Given the description of an element on the screen output the (x, y) to click on. 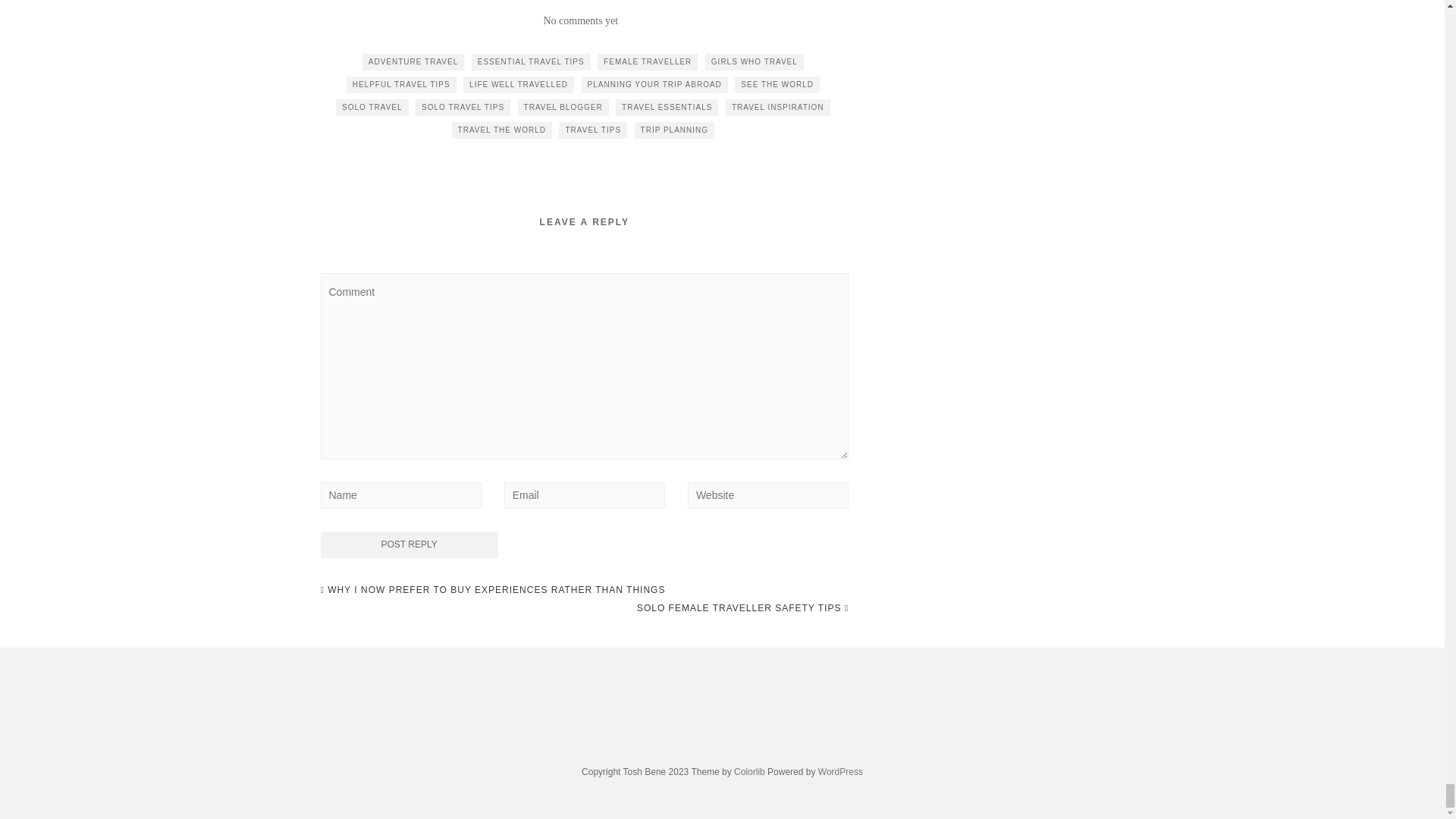
Post Reply (408, 544)
